Given the description of an element on the screen output the (x, y) to click on. 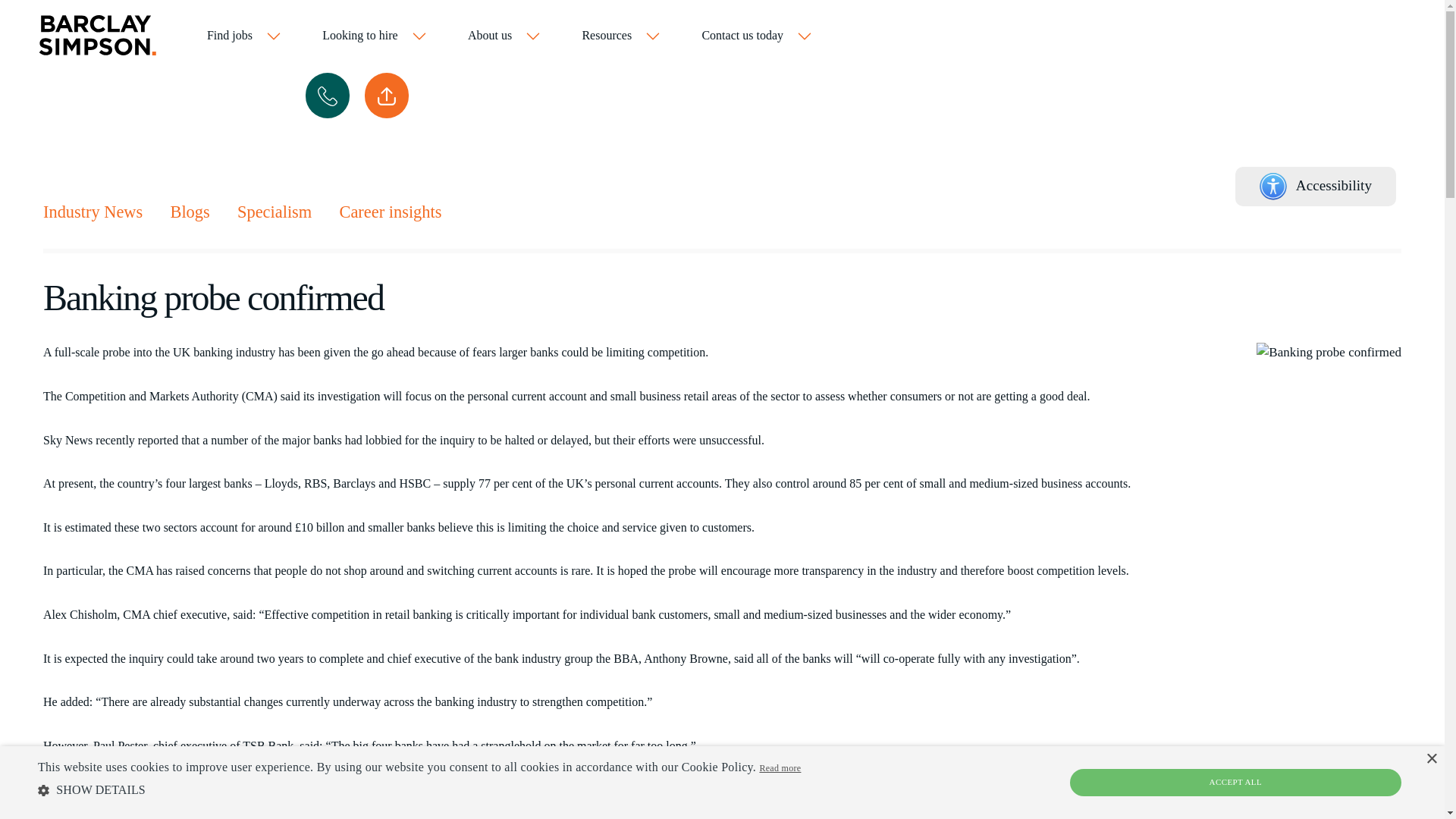
Find jobs (244, 36)
Looking to hire (374, 36)
